Given the description of an element on the screen output the (x, y) to click on. 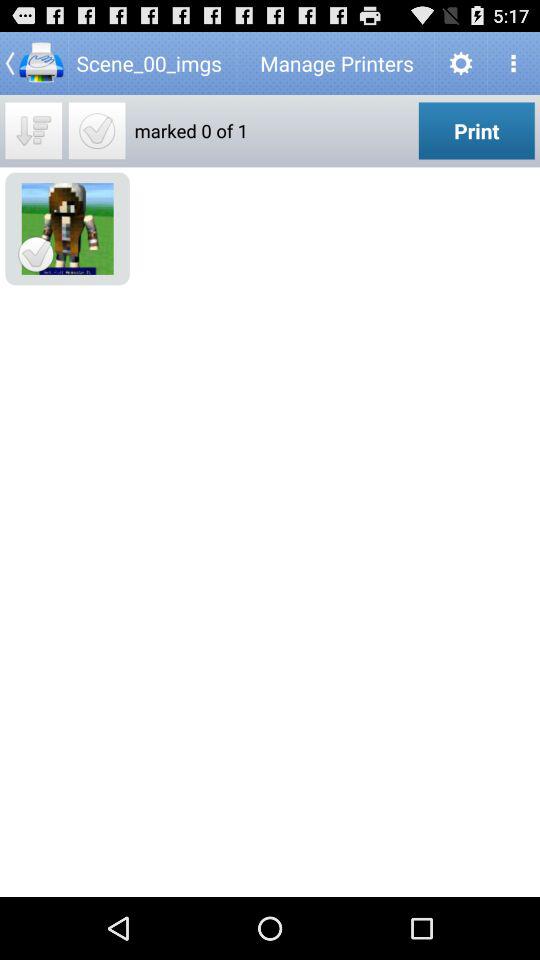
launch the app next to the marked 0 of icon (476, 130)
